Given the description of an element on the screen output the (x, y) to click on. 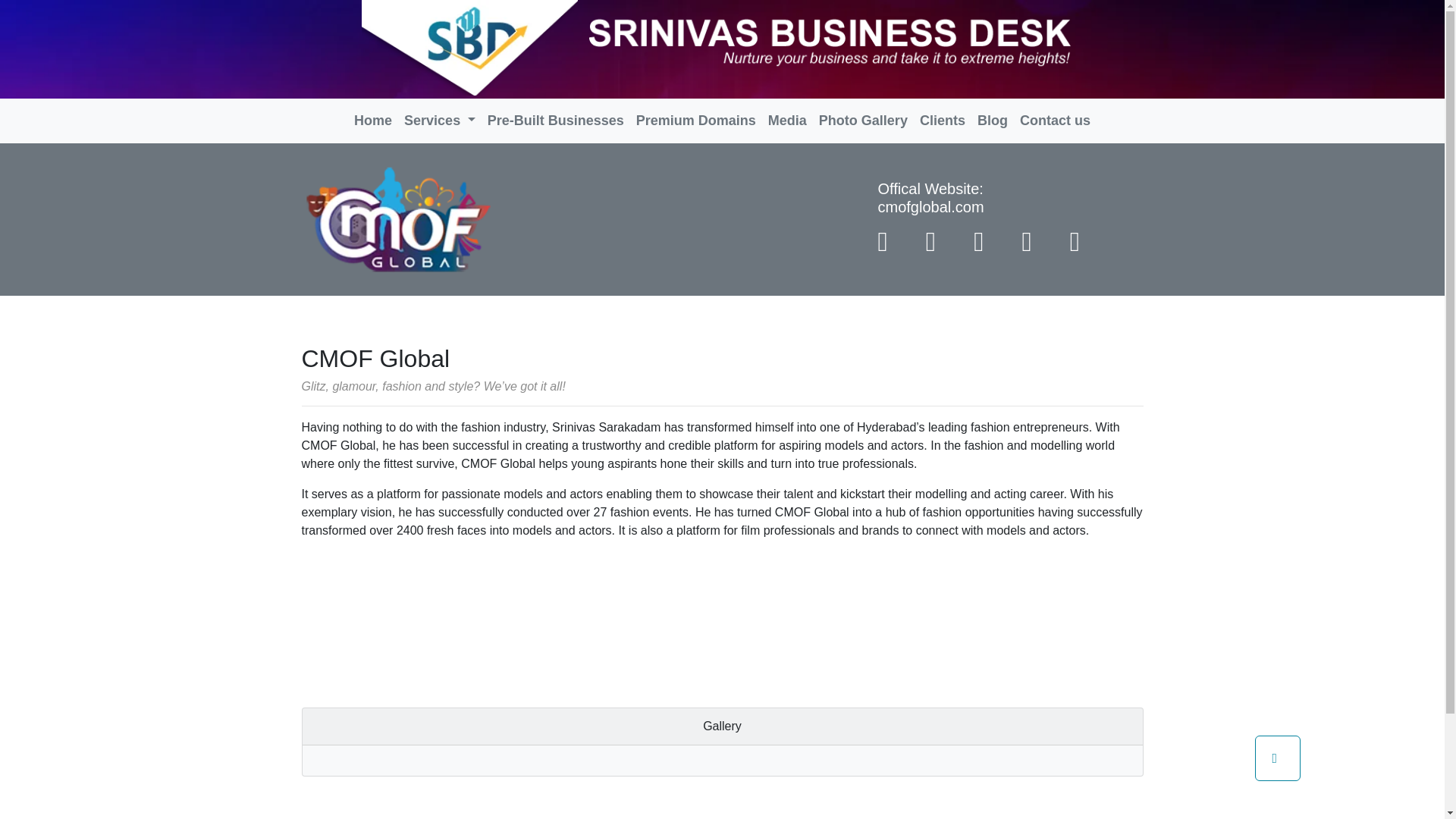
Contact us (1054, 120)
Photo Gallery (863, 120)
Clients (942, 120)
Media (786, 120)
Home (372, 120)
Pre-Built Businesses (555, 120)
Premium Domains (695, 120)
Services (439, 120)
Blog (992, 120)
cmofglobal.com (930, 207)
